Given the description of an element on the screen output the (x, y) to click on. 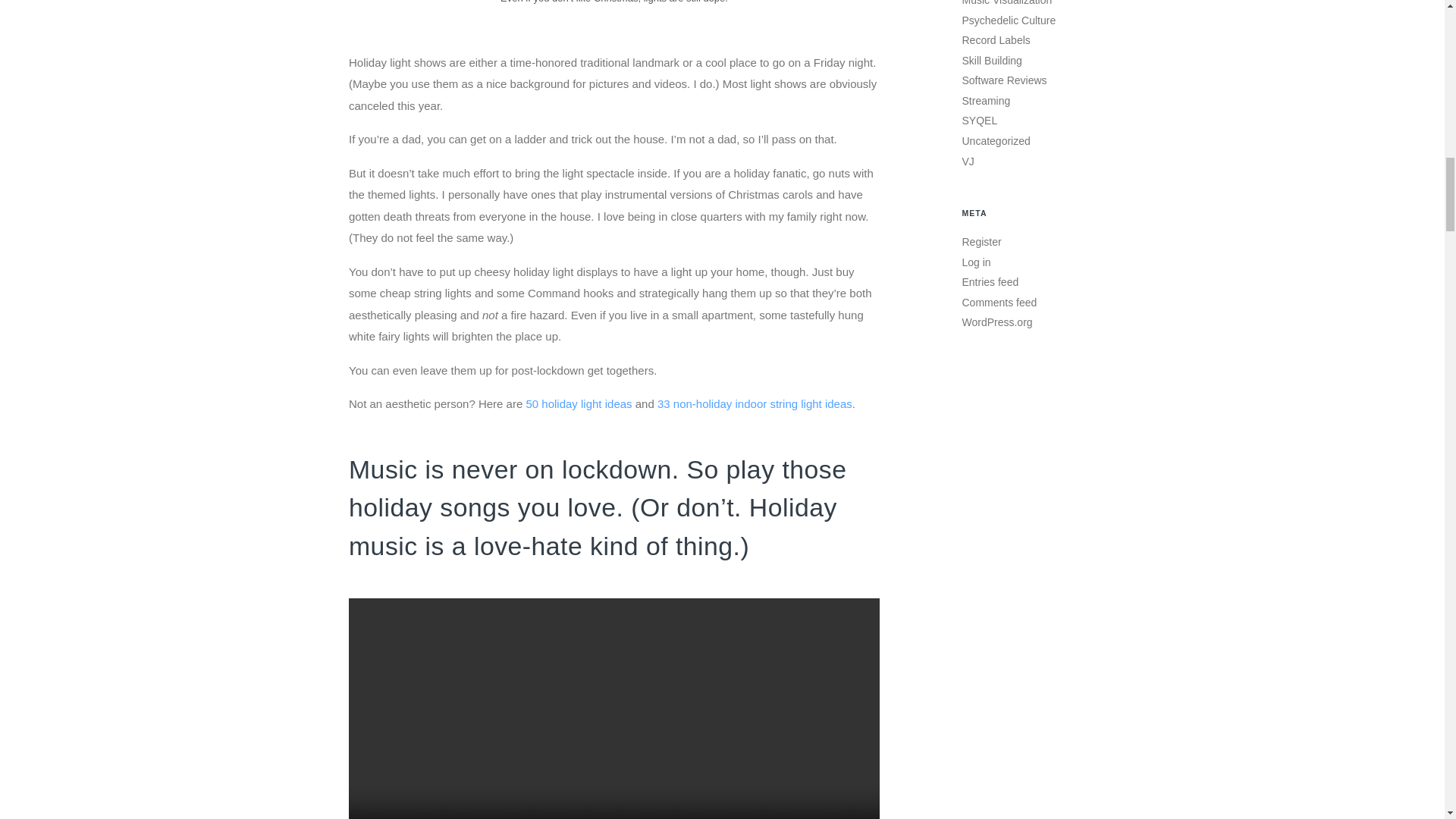
Psychedelic Culture (1007, 19)
Streaming (985, 101)
Skill Building (991, 60)
Uncategorized (994, 141)
Software Reviews (1003, 80)
Record Labels (994, 39)
50 holiday light ideas (578, 403)
Register (980, 241)
VJ (967, 161)
33 non-holiday indoor string light ideas (754, 403)
Music Visualization (1005, 2)
Log in (975, 262)
SYQEL (978, 120)
